Given the description of an element on the screen output the (x, y) to click on. 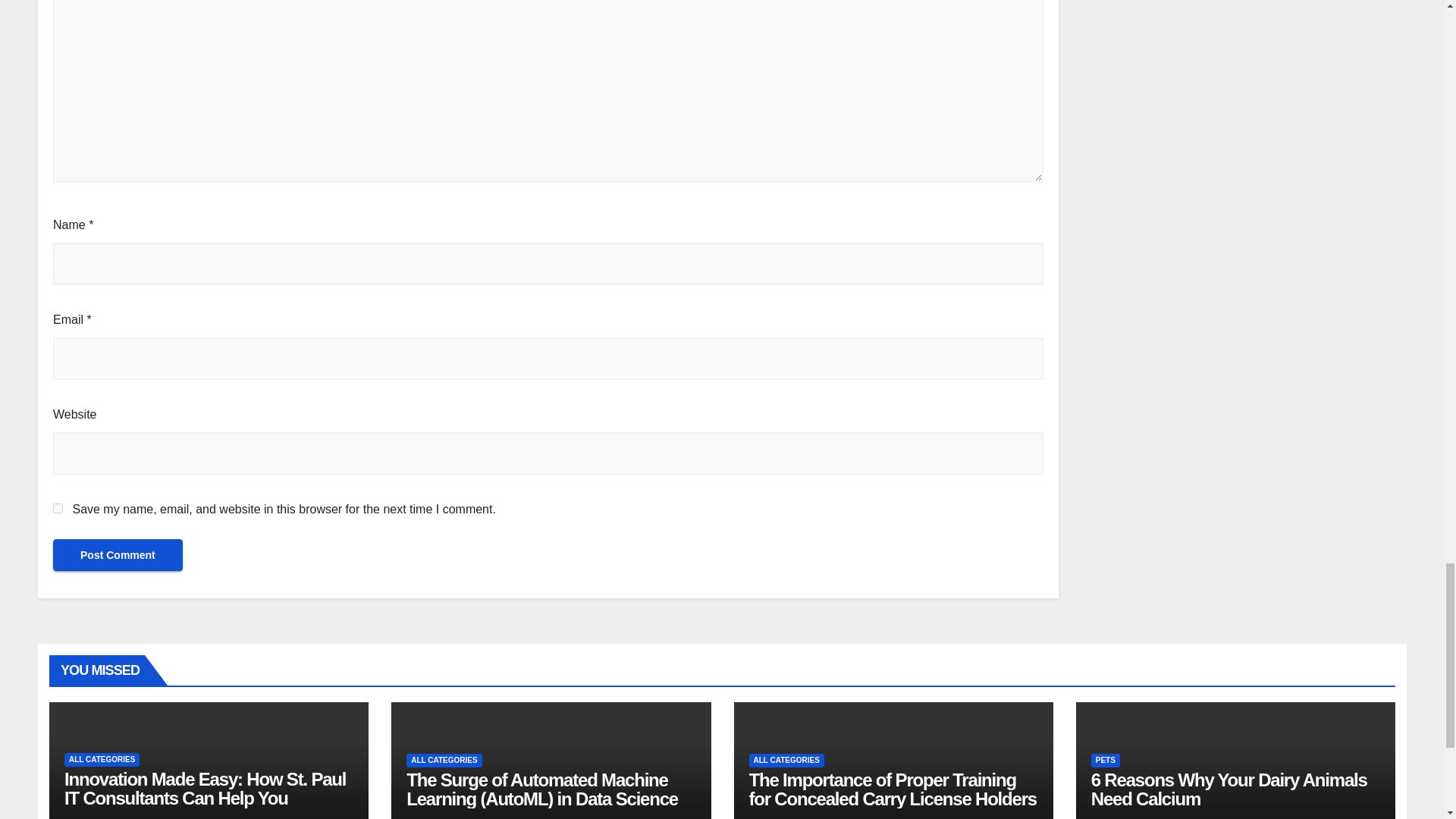
yes (57, 508)
Post Comment (117, 554)
Post Comment (117, 554)
Permalink to: 6 Reasons Why Your Dairy Animals Need Calcium (1228, 789)
